Given the description of an element on the screen output the (x, y) to click on. 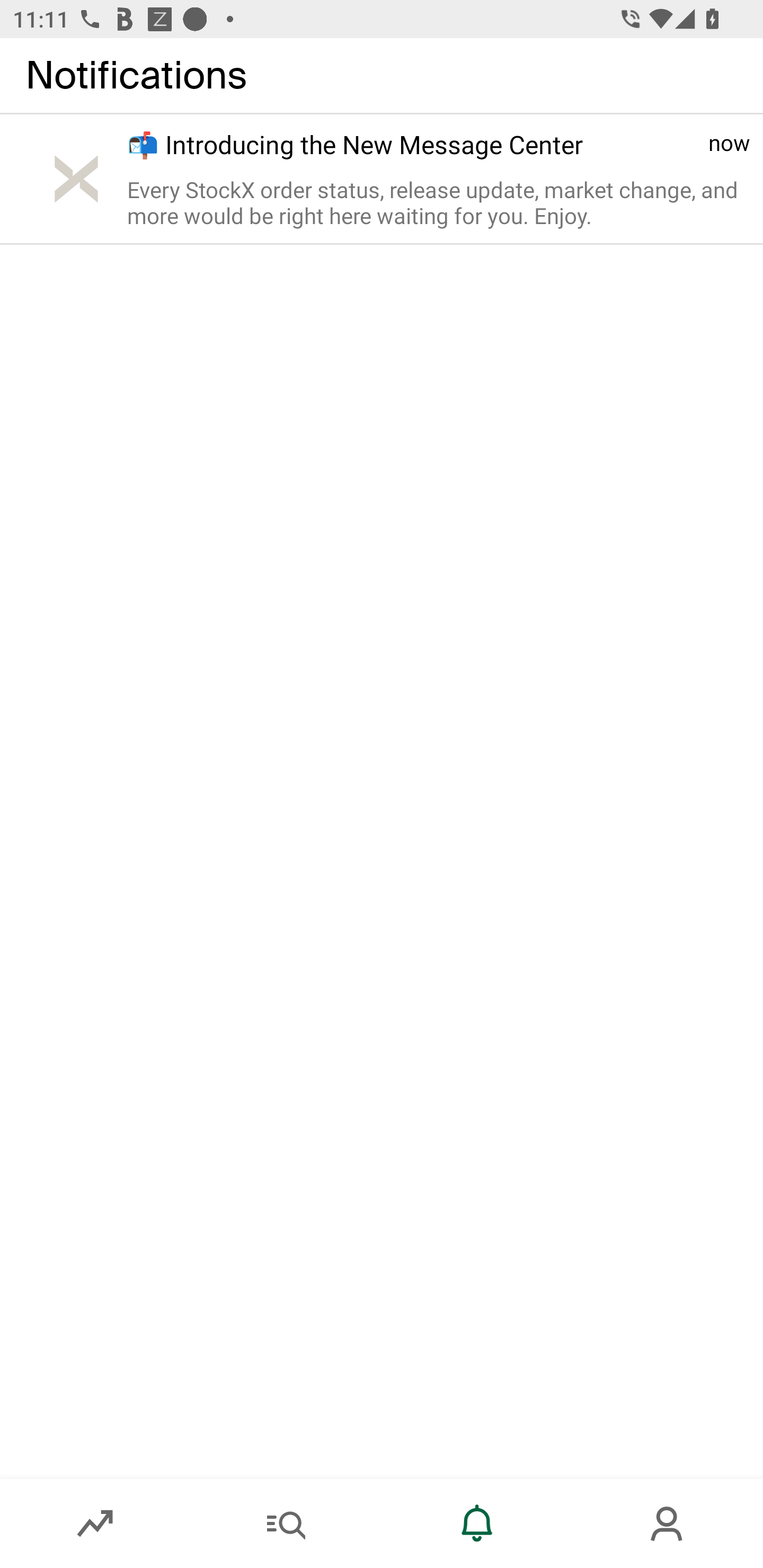
Market (95, 1523)
Search (285, 1523)
Account (667, 1523)
